Given the description of an element on the screen output the (x, y) to click on. 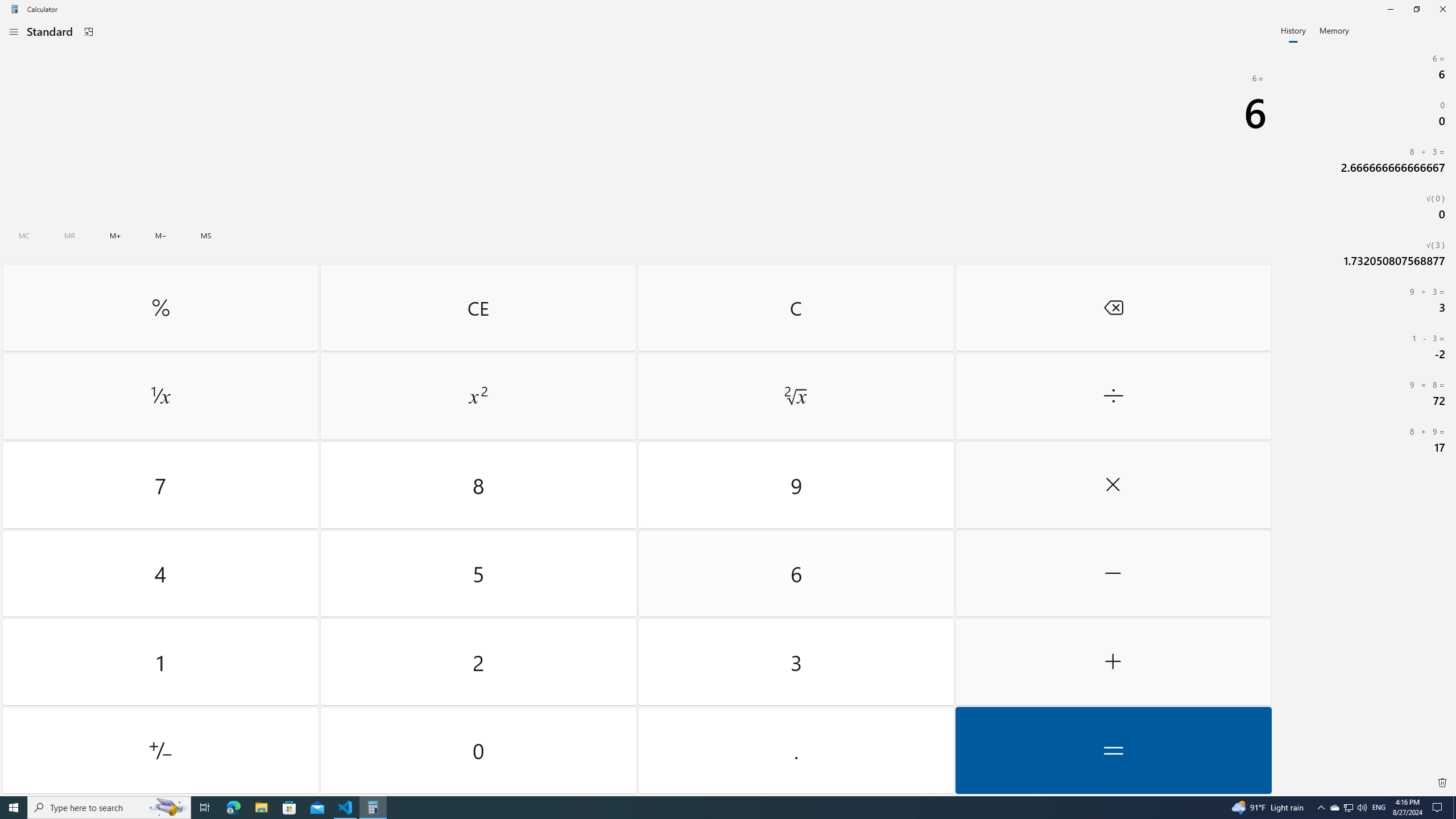
Percent (160, 307)
1 Minus ( 3= Minus (2 (1364, 346)
Minimize Calculator (1390, 9)
Four (160, 572)
Clear entry (478, 307)
